Given the description of an element on the screen output the (x, y) to click on. 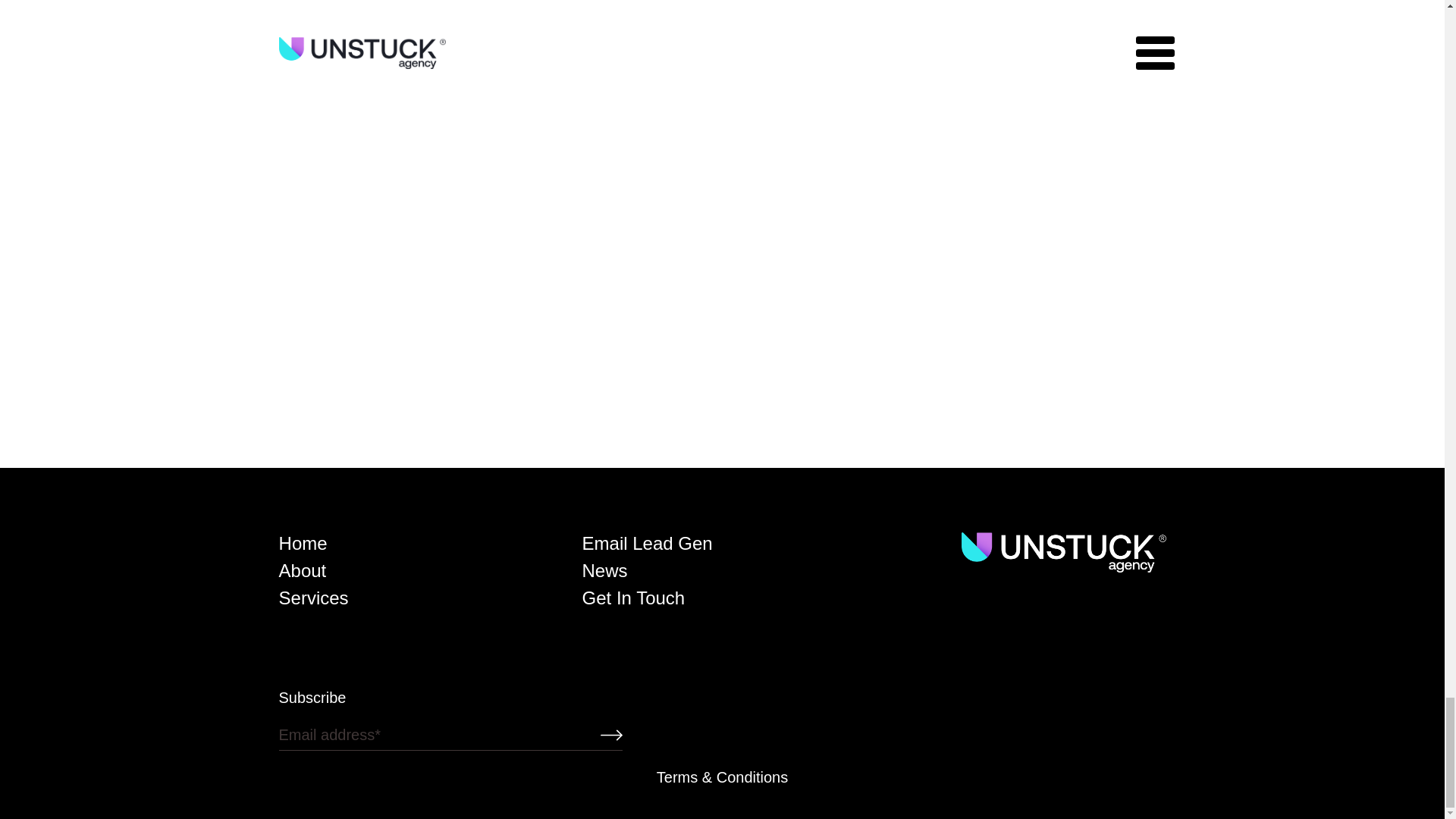
Send (555, 738)
